Given the description of an element on the screen output the (x, y) to click on. 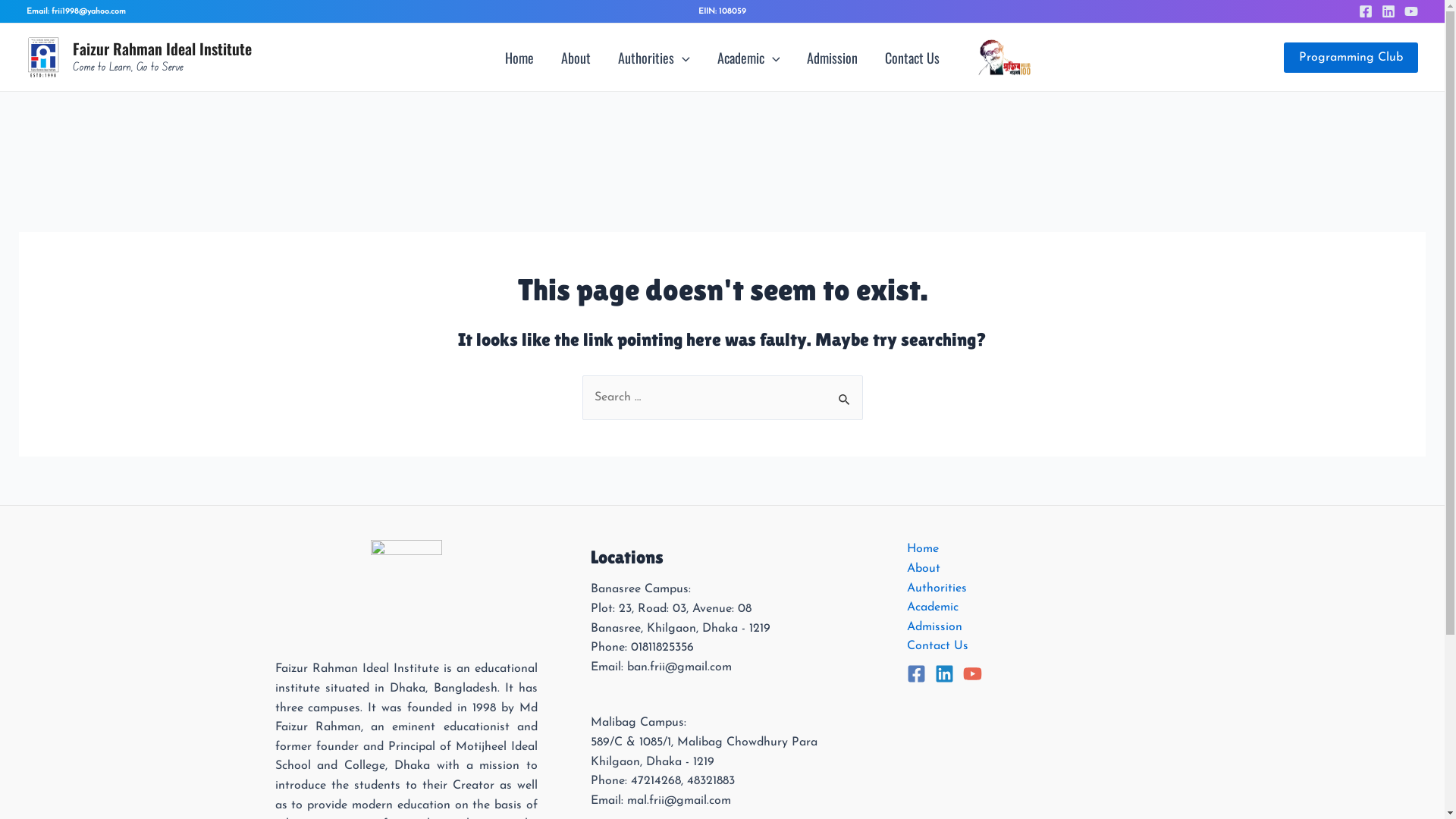
About Element type: text (575, 56)
Admission Element type: text (934, 627)
Authorities Element type: text (936, 589)
Academic Element type: text (748, 56)
Contact Us Element type: text (912, 56)
Academic Element type: text (932, 608)
Authorities Element type: text (653, 56)
Faizur Rahman Ideal Institute Element type: text (161, 48)
Search Element type: text (845, 391)
Programming Club Element type: text (1350, 57)
Home Element type: text (922, 549)
Home Element type: text (519, 56)
Admission Element type: text (832, 56)
Contact Us Element type: text (937, 646)
About Element type: text (923, 569)
